Given the description of an element on the screen output the (x, y) to click on. 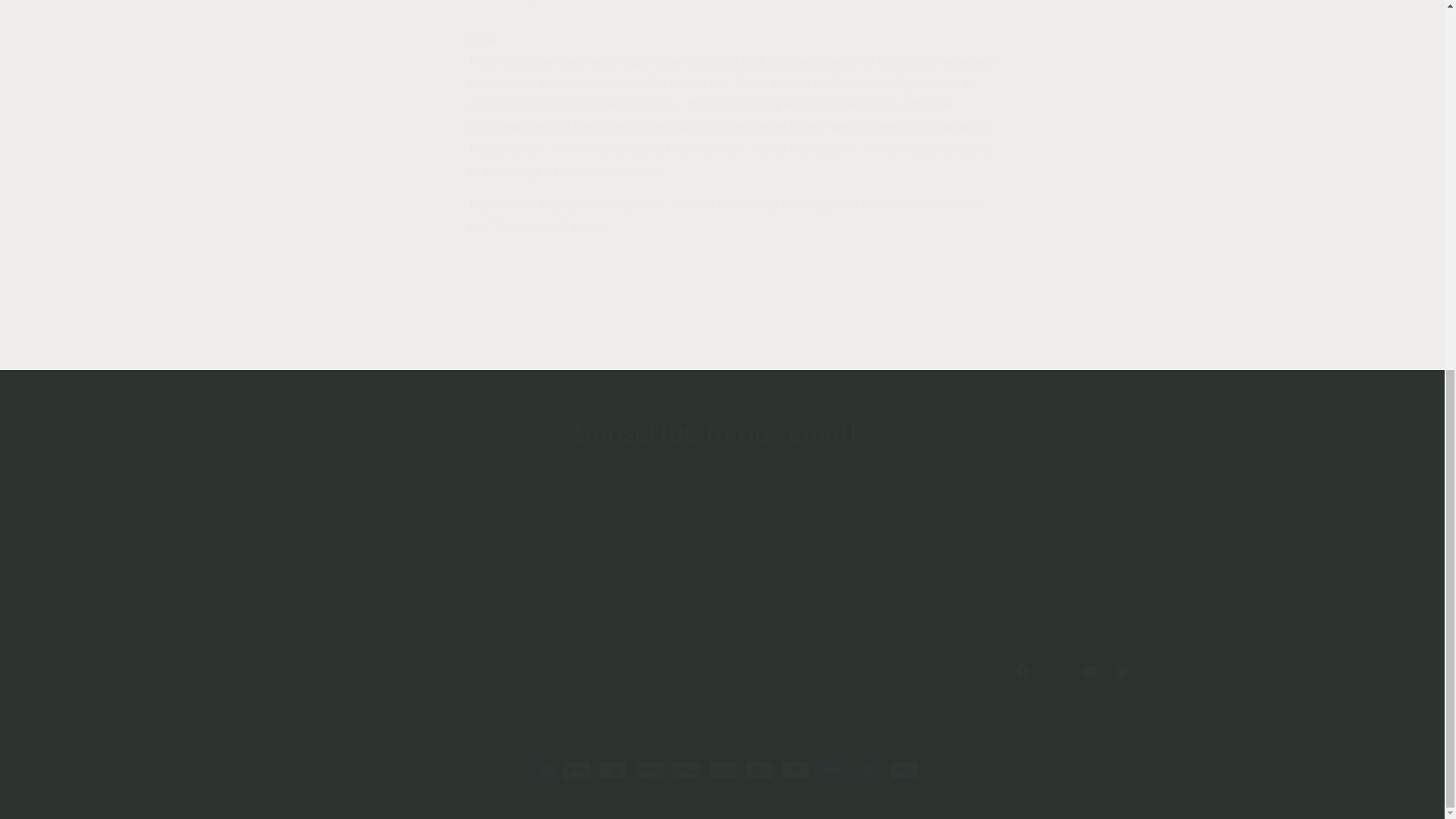
Shipping Notes (721, 671)
Subscribe to our emails (741, 633)
FAQs (721, 432)
Email (810, 633)
"Contact us" (722, 521)
Contact us (530, 226)
Contact us (530, 226)
Contact Us 754.777.9866 (579, 1)
